Given the description of an element on the screen output the (x, y) to click on. 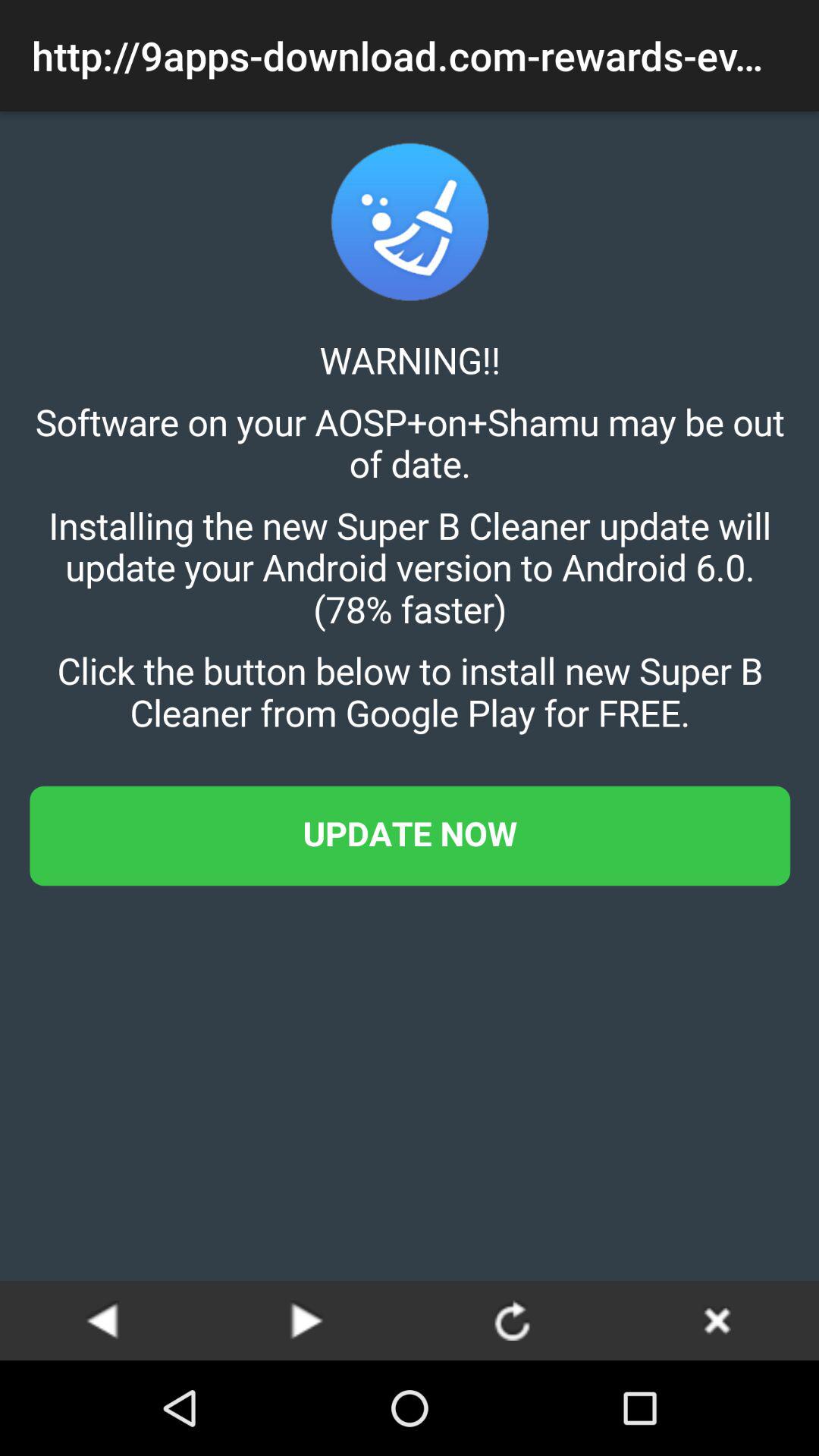
replay button (511, 1320)
